Given the description of an element on the screen output the (x, y) to click on. 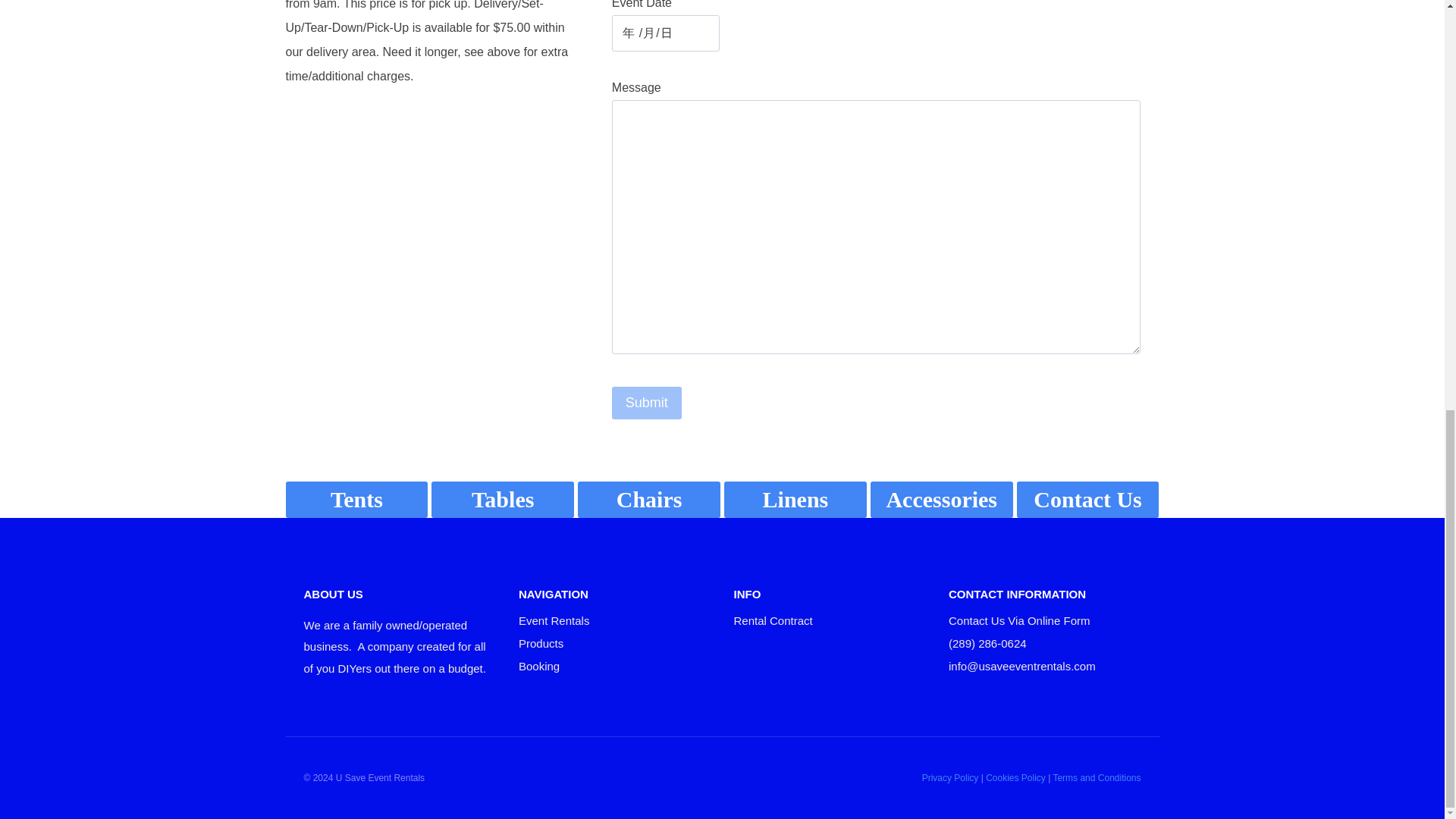
Submit (646, 402)
